Given the description of an element on the screen output the (x, y) to click on. 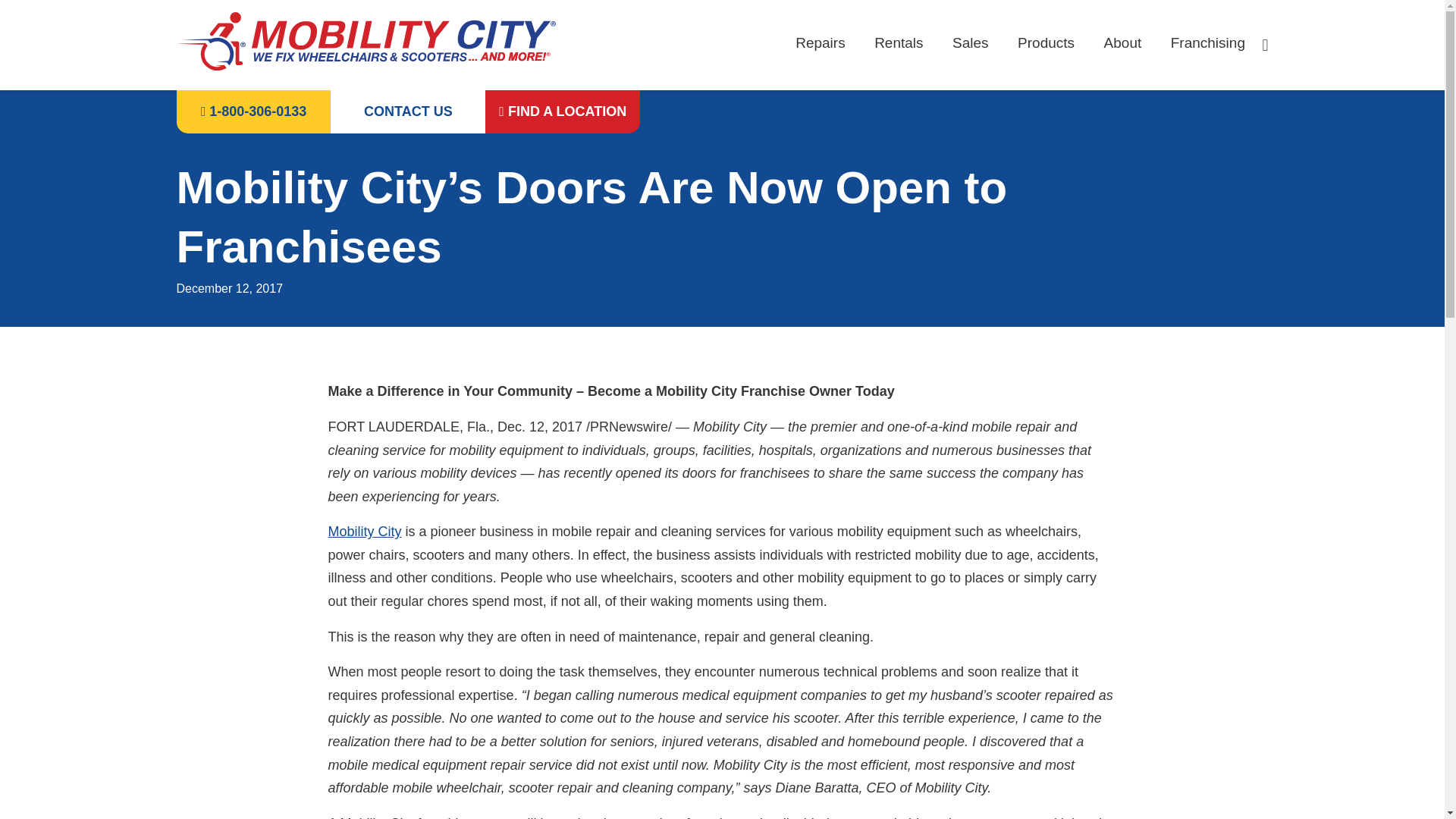
About (1122, 43)
Products (1045, 43)
Franchising (1207, 43)
Rentals (899, 43)
Sales (970, 43)
Repairs (819, 43)
